Given the description of an element on the screen output the (x, y) to click on. 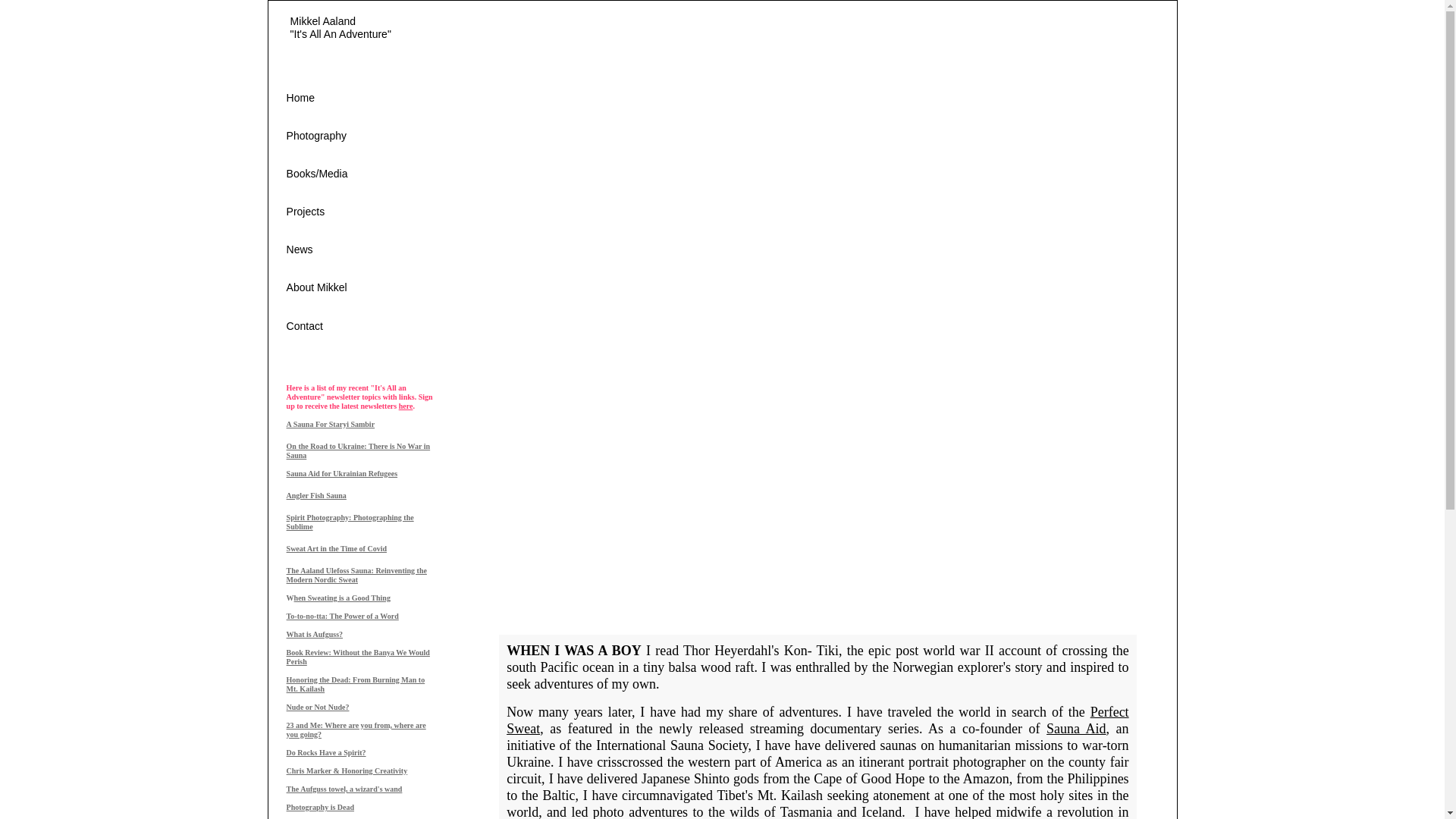
Sweat Art in the Time of Covid (336, 547)
What is Aufguss? (314, 633)
On the Road to Ukraine: There is No War in Sauna (358, 449)
To-to-no-tta: The Power of a Word (342, 615)
Photography (380, 147)
Spirit Photography: Photographing the Sublime (349, 521)
here (405, 406)
Home (380, 109)
A Sauna For Staryi Sambir (330, 423)
Nude or Not Nude? (317, 706)
